Given the description of an element on the screen output the (x, y) to click on. 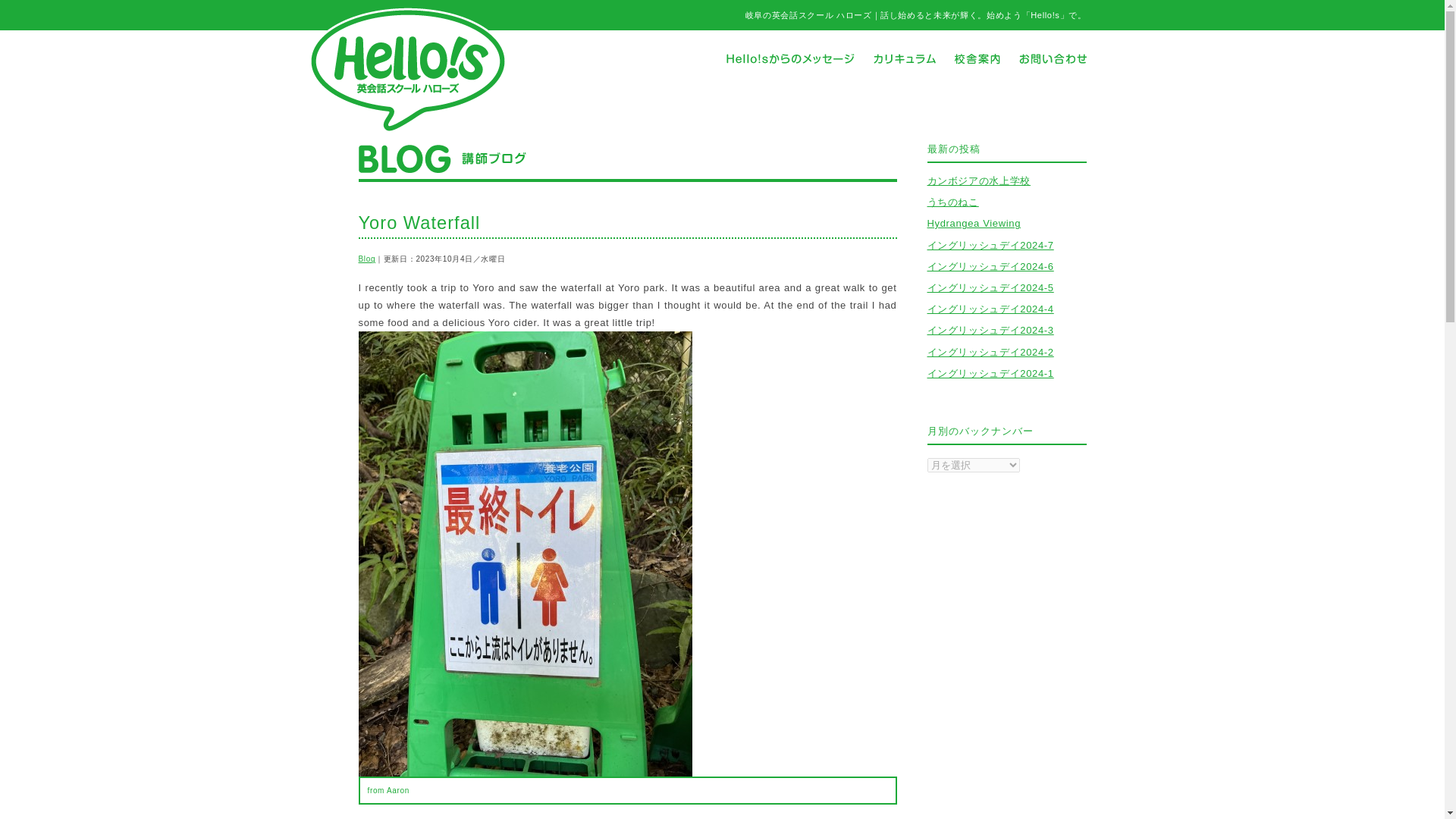
Yoro Waterfall (419, 222)
Yoro Waterfall (419, 222)
Blog (366, 258)
Hydrangea Viewing (973, 223)
Hydrangea Viewing (973, 223)
